Given the description of an element on the screen output the (x, y) to click on. 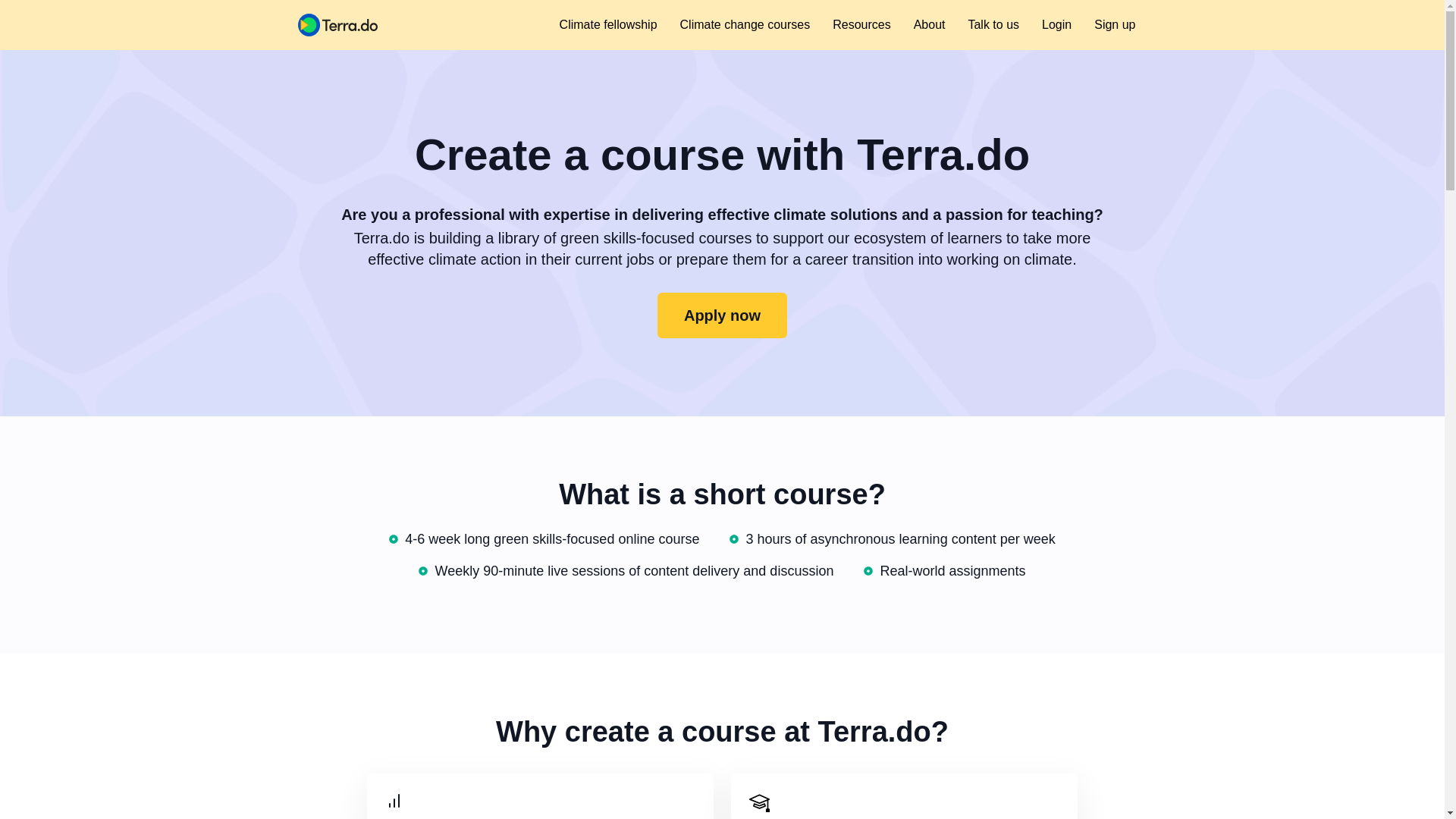
Talk to us (993, 24)
Climate change courses (745, 24)
Resources (861, 24)
Climate fellowship (608, 24)
About (929, 24)
